Given the description of an element on the screen output the (x, y) to click on. 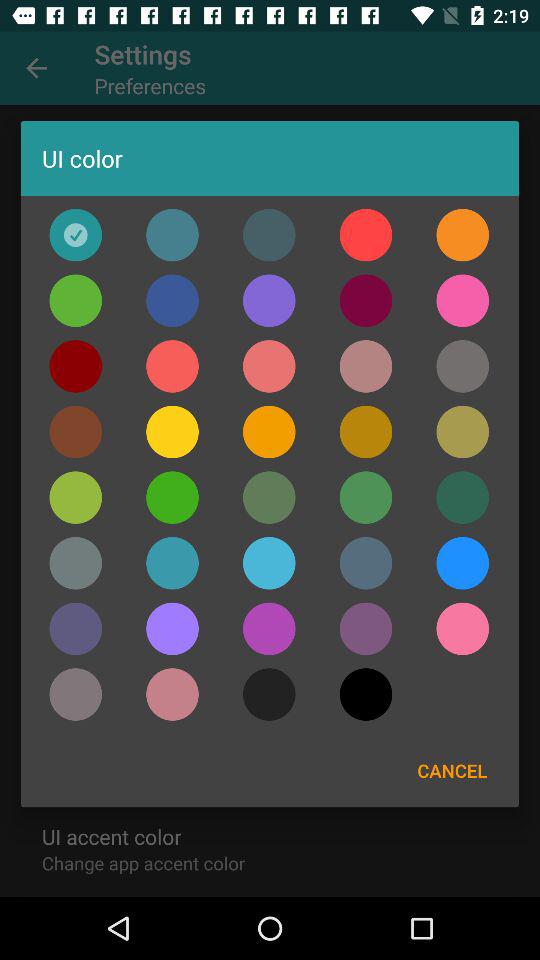
change the ui color (269, 366)
